Given the description of an element on the screen output the (x, y) to click on. 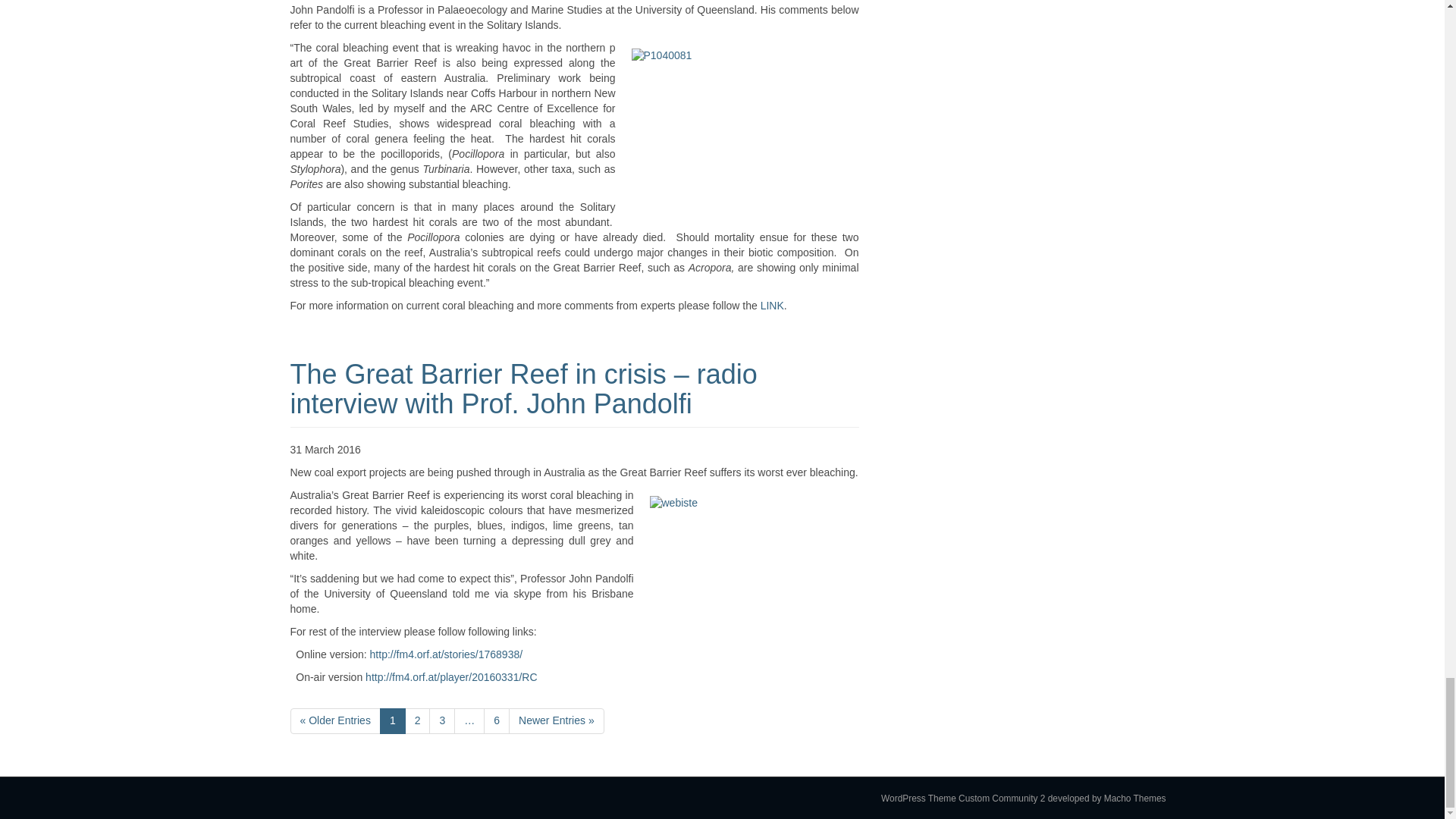
Professional WOordPress Themes (1107, 798)
WordPress Theme Custom Community 2 (962, 798)
